Given the description of an element on the screen output the (x, y) to click on. 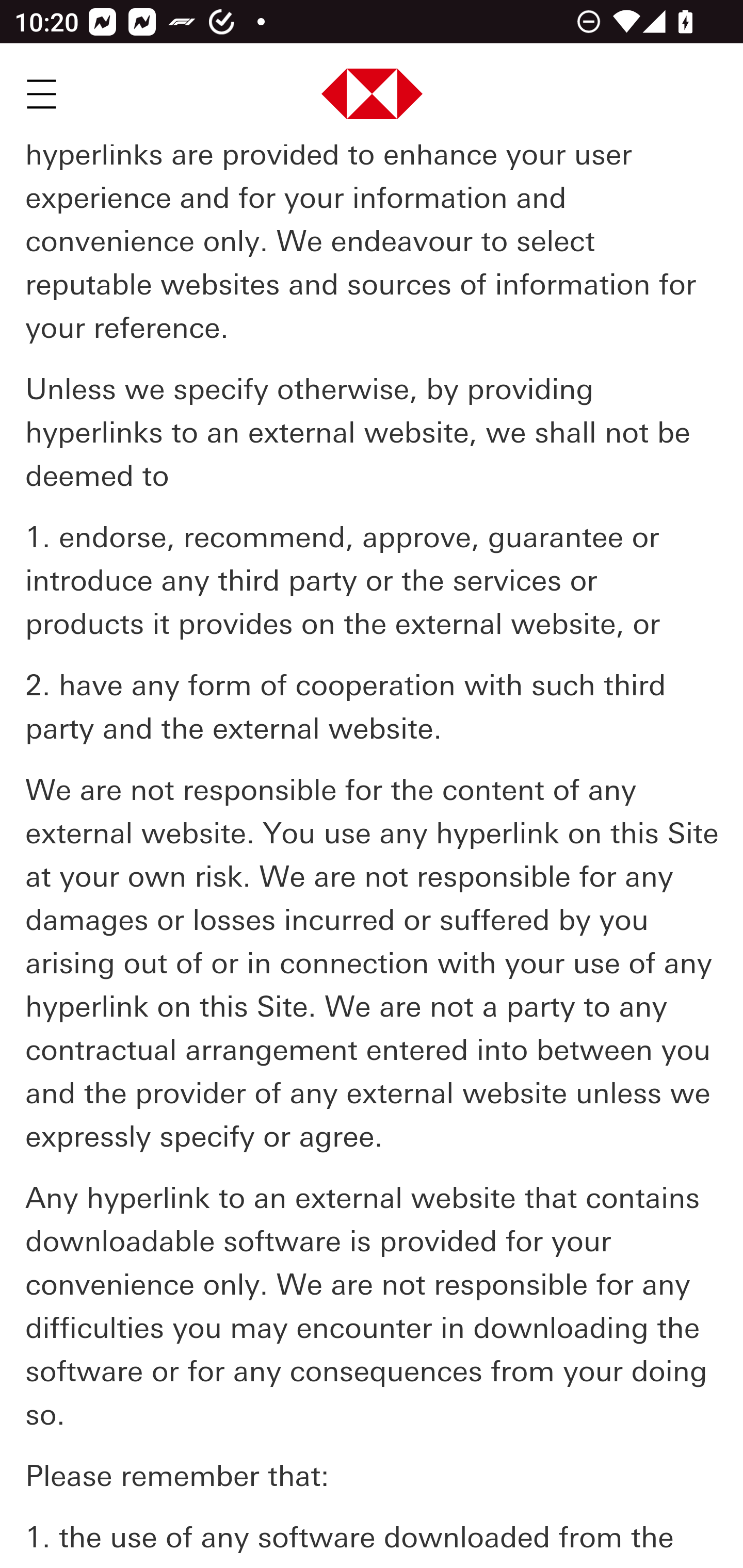
HSBC Hong Kong Bank (372, 94)
Mobile Menu Trigger (41, 93)
